Given the description of an element on the screen output the (x, y) to click on. 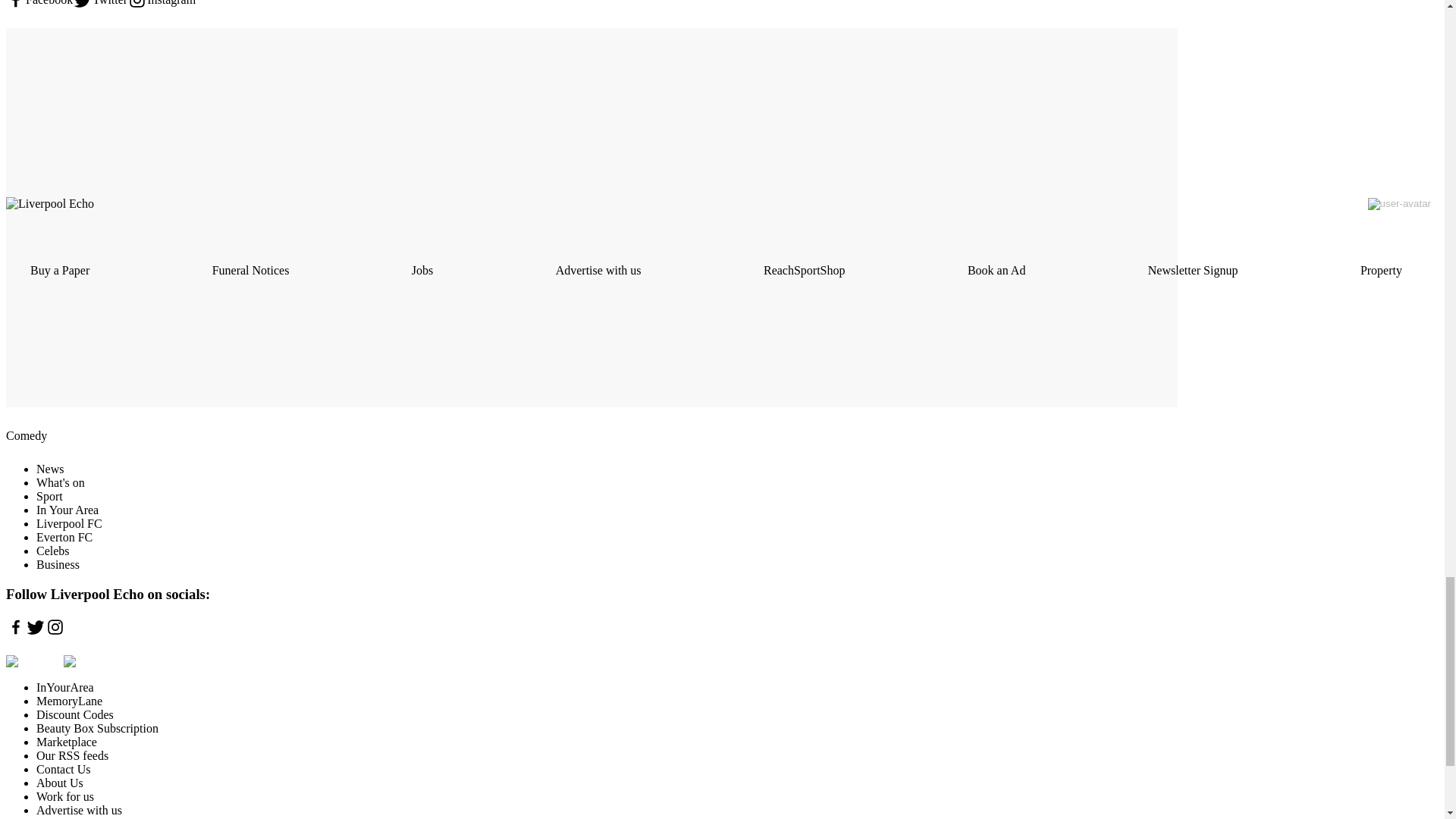
News (50, 468)
Comedy (25, 436)
In Your Area (67, 509)
Twitter (100, 4)
Facebook (38, 4)
Sport (49, 495)
What's on (60, 481)
Instagram (161, 4)
